Given the description of an element on the screen output the (x, y) to click on. 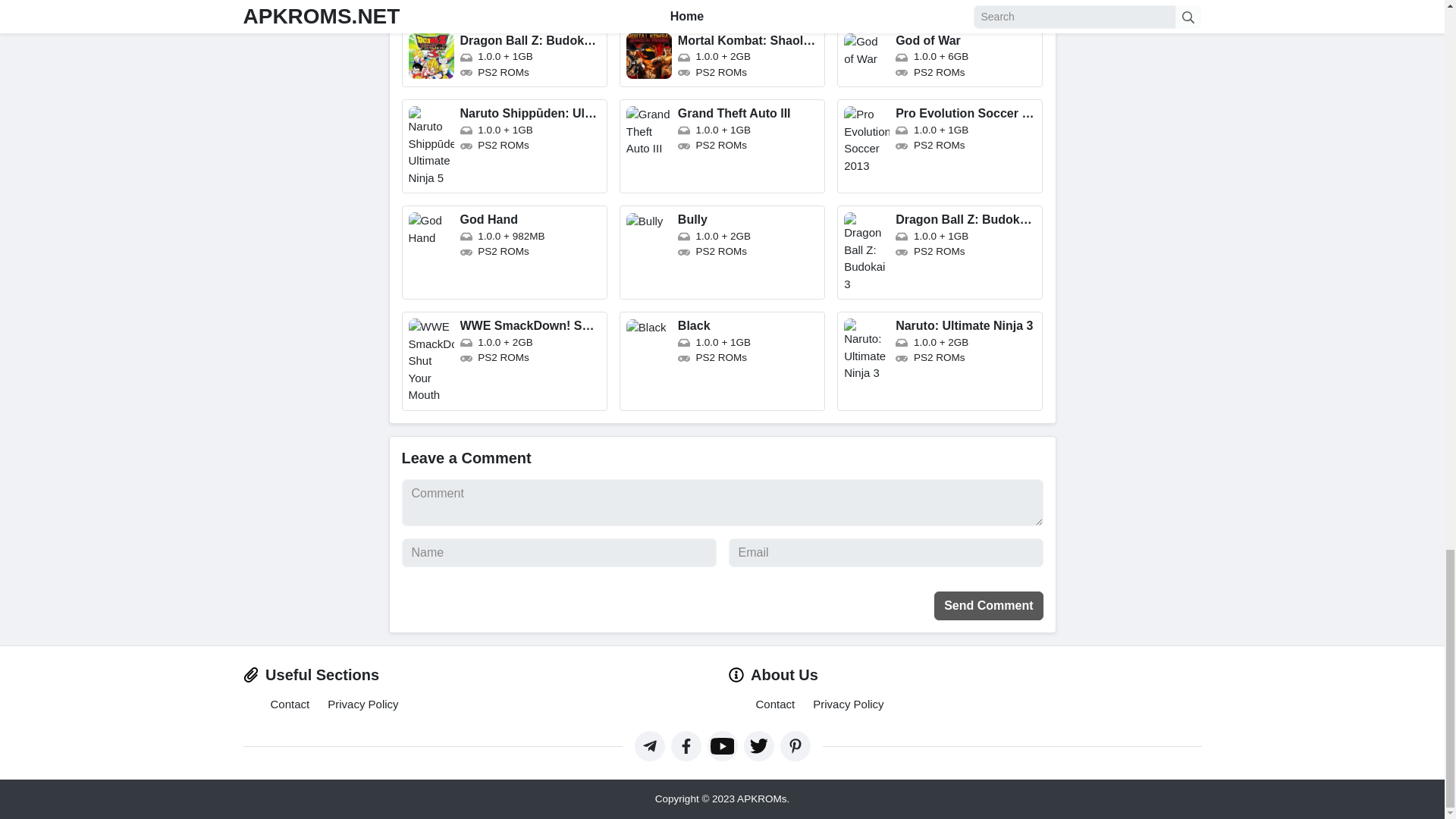
Dragon Ball Z: Budokai 3 (939, 252)
Send Comment (988, 605)
Privacy Policy (362, 703)
Black (722, 361)
Contact (288, 703)
Naruto: Ultimate Ninja 3 (939, 361)
Bully (722, 252)
Privacy Policy (847, 703)
Mortal Kombat: Shaolin Monks (722, 56)
Pro Evolution Soccer 2013 (939, 146)
WWE SmackDown! Shut Your Mouth (504, 361)
God Hand (504, 252)
Dragon Ball Z: Budokai Tenkaichi 3 (504, 56)
Grand Theft Auto III (722, 146)
God of War (939, 56)
